Given the description of an element on the screen output the (x, y) to click on. 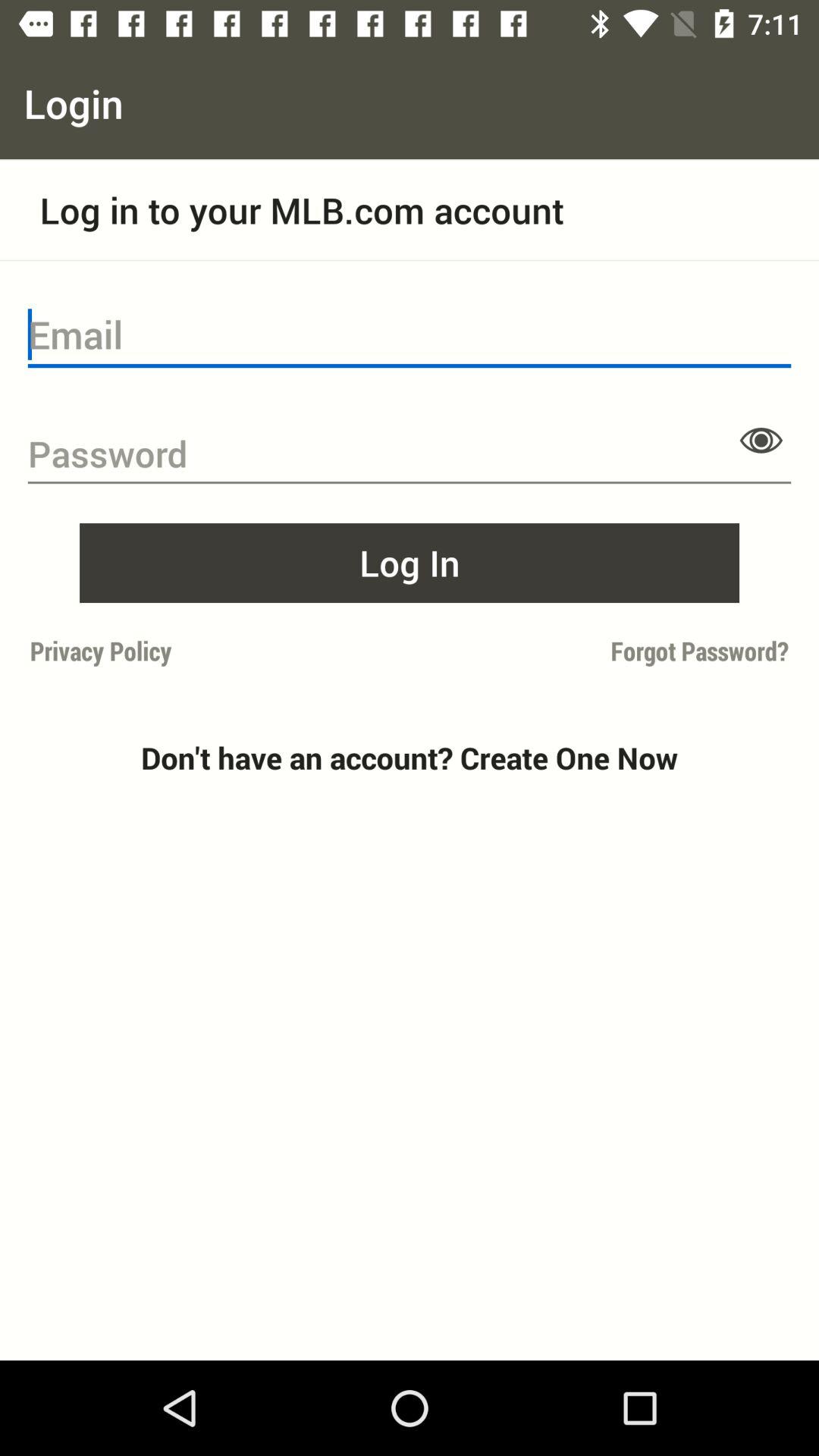
show password (761, 440)
